Given the description of an element on the screen output the (x, y) to click on. 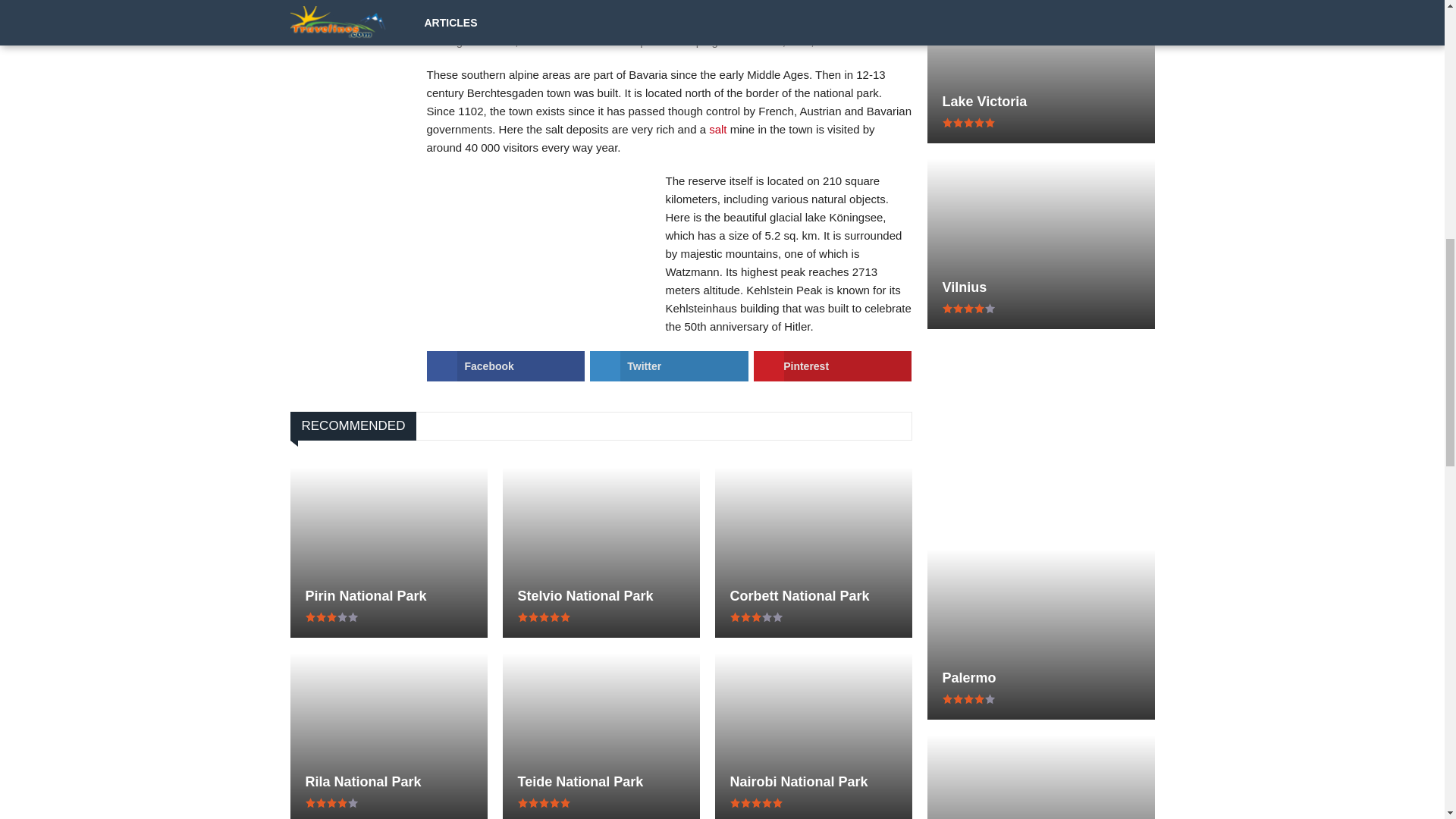
Lake Victoria (1040, 101)
Share this page on Twitter (668, 366)
Share this page on Facebook (504, 366)
Pirin National Park (387, 596)
Corbett National Park (812, 596)
Lake Victoria (1040, 101)
Pirin National Park (387, 596)
Vilnius (1040, 287)
Stelvio National Park (600, 596)
Teide National Park (600, 781)
Corbett National Park (812, 596)
Stelvio National Park (600, 596)
Palermo (1040, 677)
Teide National Park (600, 781)
Share this page on Pinterest (832, 366)
